Given the description of an element on the screen output the (x, y) to click on. 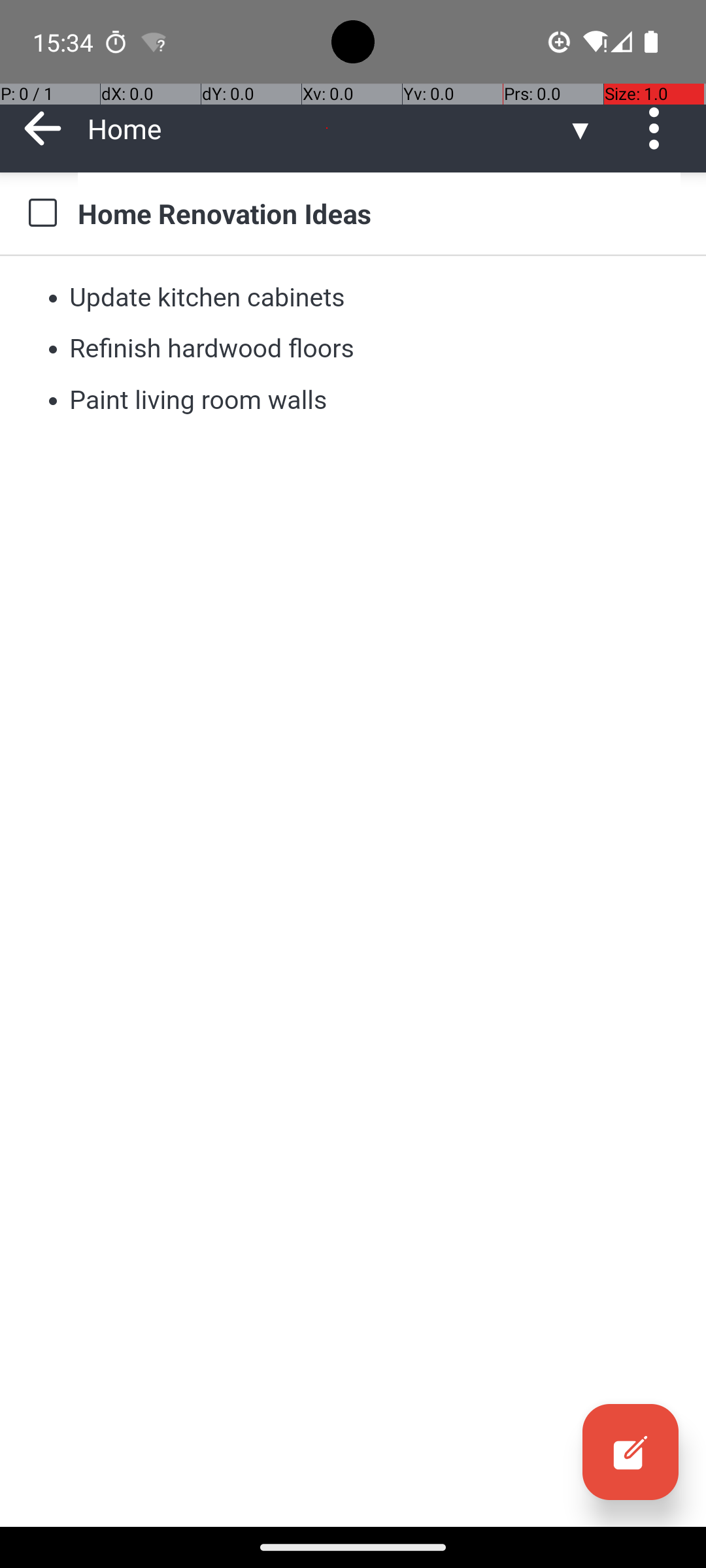
Home Renovation Ideas Element type: android.widget.EditText (378, 213)
•  Element type: android.view.View (52, 296)
Update kitchen cabinets Element type: android.widget.TextView (207, 296)
Refinish hardwood floors Element type: android.widget.TextView (211, 348)
Paint living room walls Element type: android.widget.TextView (197, 399)
